Given the description of an element on the screen output the (x, y) to click on. 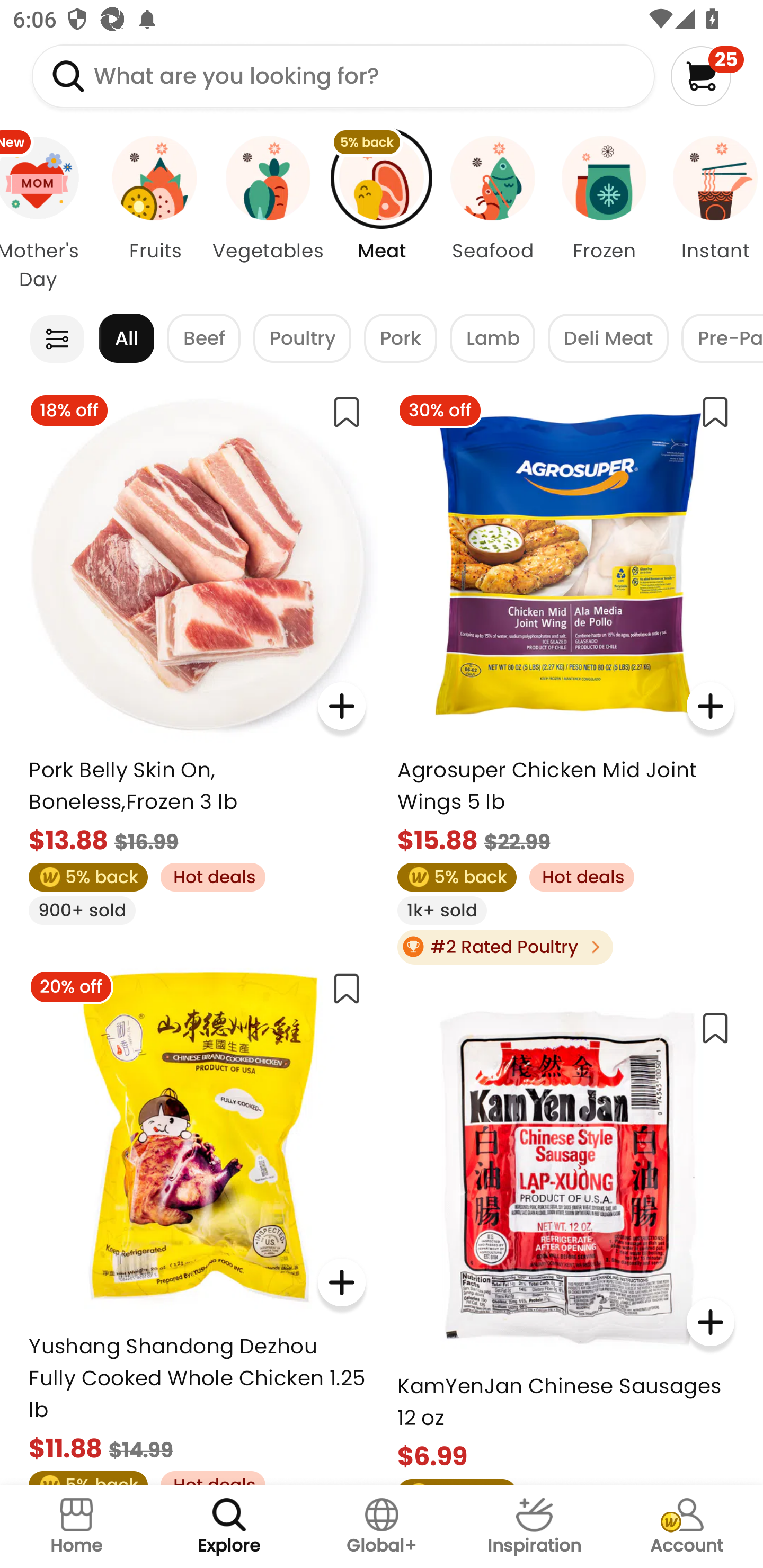
What are you looking for? (343, 75)
25 (706, 75)
New Mother's Day (49, 214)
Fruits (154, 214)
Vegetables (267, 214)
5% back Meat (381, 214)
Seafood (492, 214)
Frozen (603, 214)
Instant (711, 214)
All (126, 337)
Beef (203, 337)
Poultry (301, 337)
Pork (400, 337)
Lamb (492, 337)
Deli Meat (607, 337)
Pre-Packaged (722, 337)
